Given the description of an element on the screen output the (x, y) to click on. 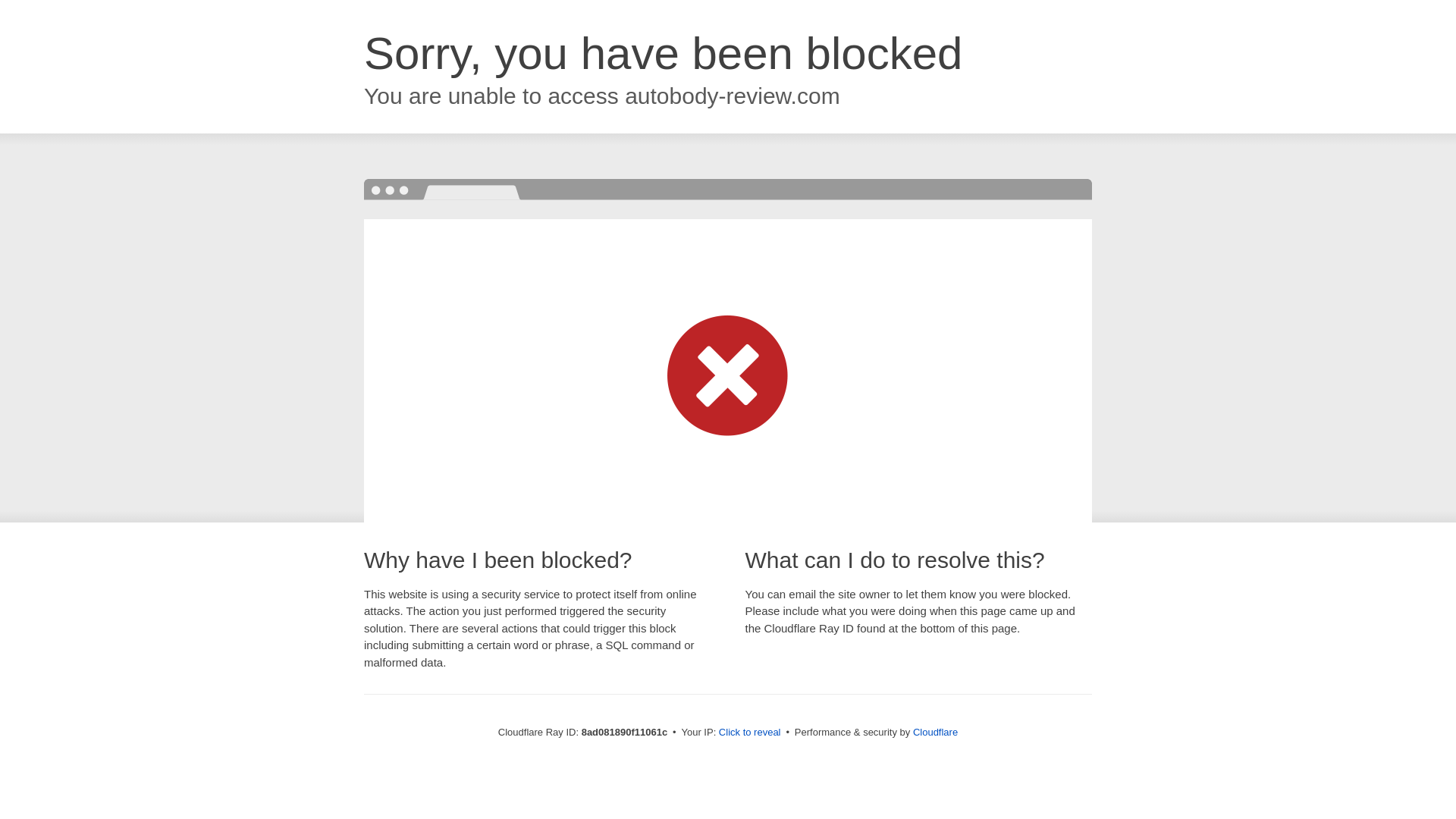
Click to reveal (749, 732)
Cloudflare (935, 731)
